Given the description of an element on the screen output the (x, y) to click on. 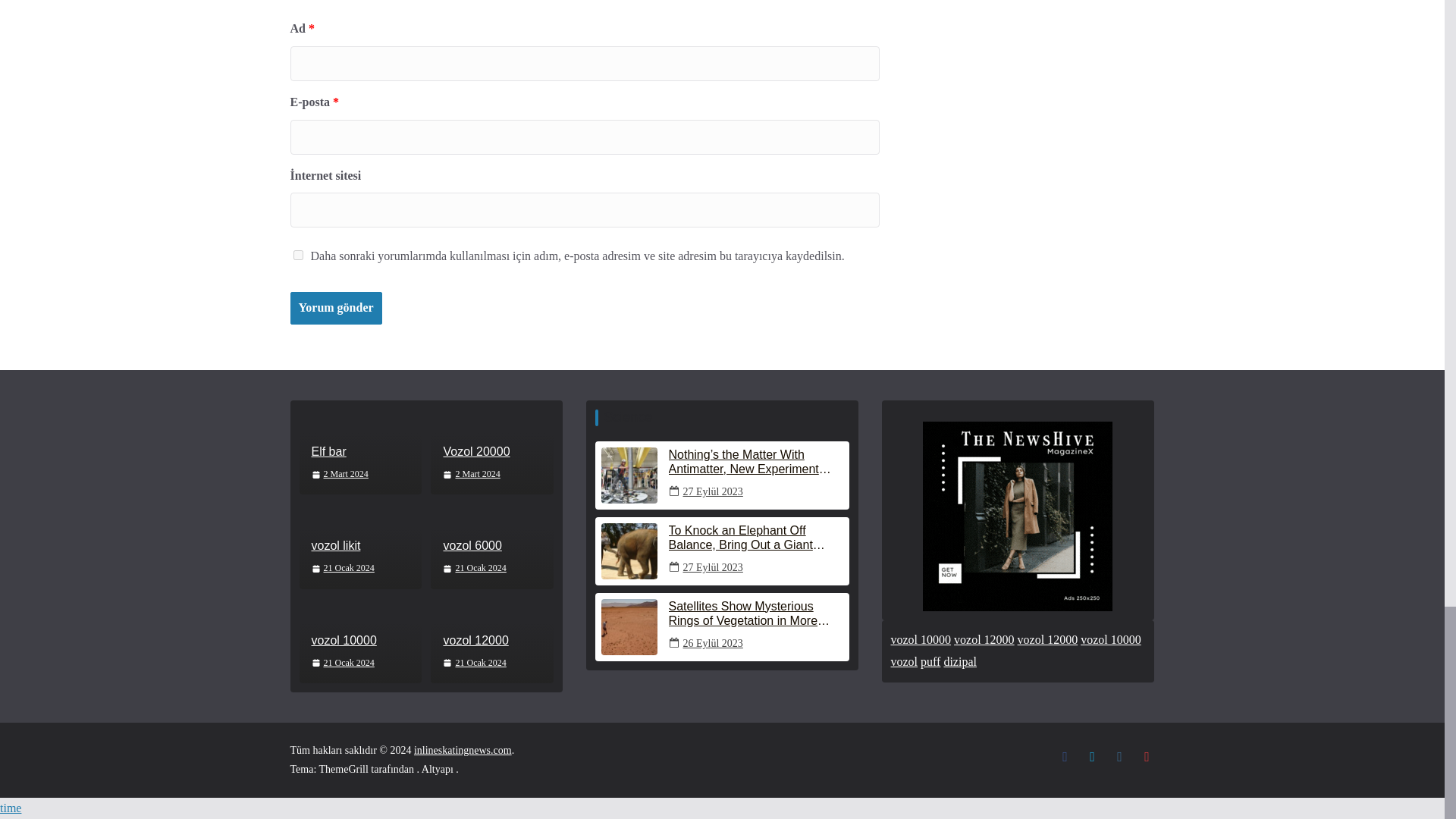
17:27 (339, 474)
17:25 (470, 474)
vozol likit (360, 546)
vozol 6000 (491, 546)
yes (297, 255)
17:40 (342, 568)
Elf bar (360, 452)
Vozol 20000 (491, 452)
